Given the description of an element on the screen output the (x, y) to click on. 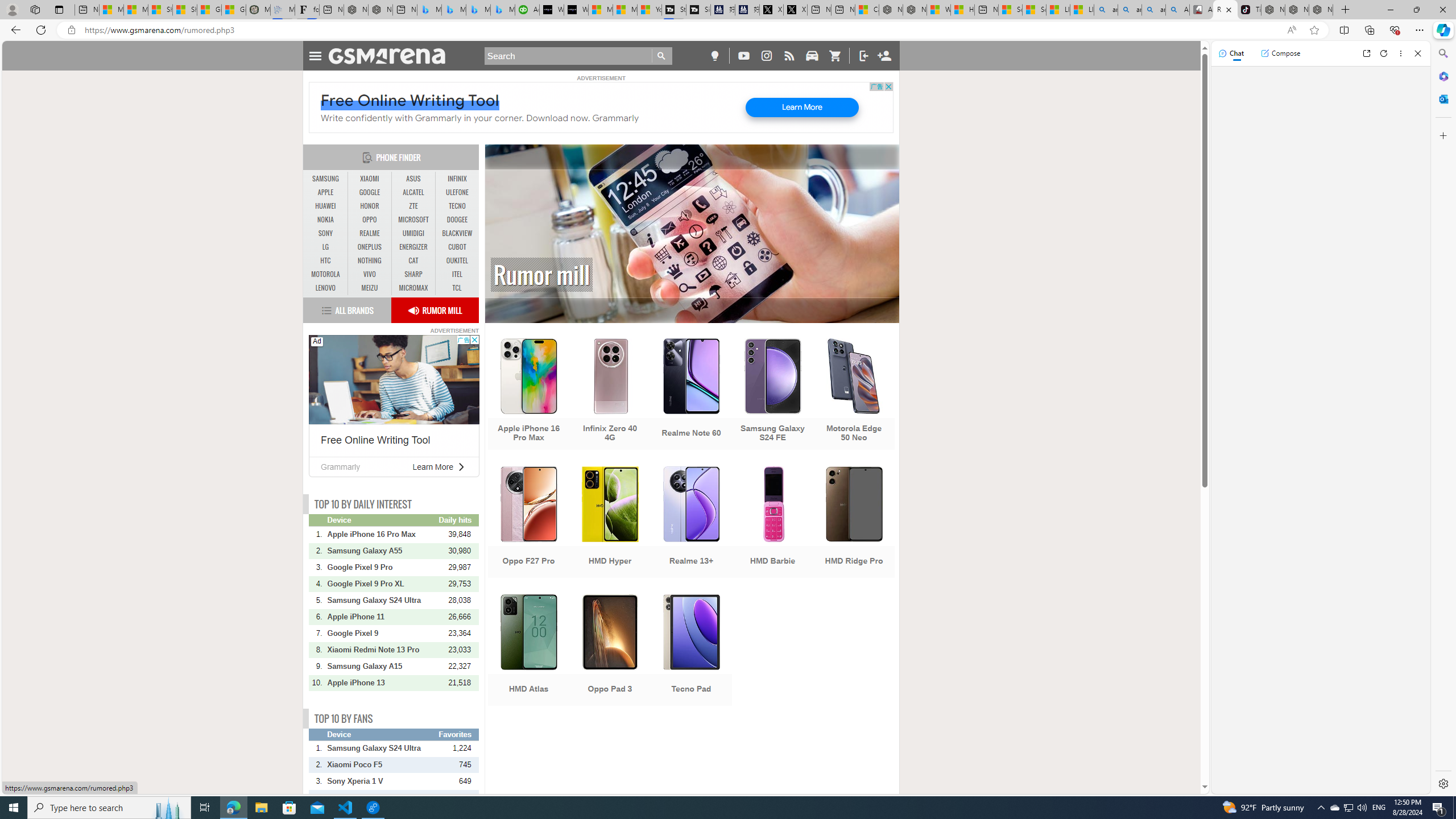
Nordace - Summer Adventures 2024 (914, 9)
Google Pixel 9 Pro XL (381, 583)
UMIDIGI (413, 233)
X (795, 9)
APPLE (325, 192)
Nordace - #1 Japanese Best-Seller - Siena Smart Backpack (380, 9)
DOOGEE (457, 219)
Learn More (432, 466)
AutomationID: cbb (474, 339)
App bar (728, 29)
TCL (457, 287)
MICROSOFT (413, 219)
